Given the description of an element on the screen output the (x, y) to click on. 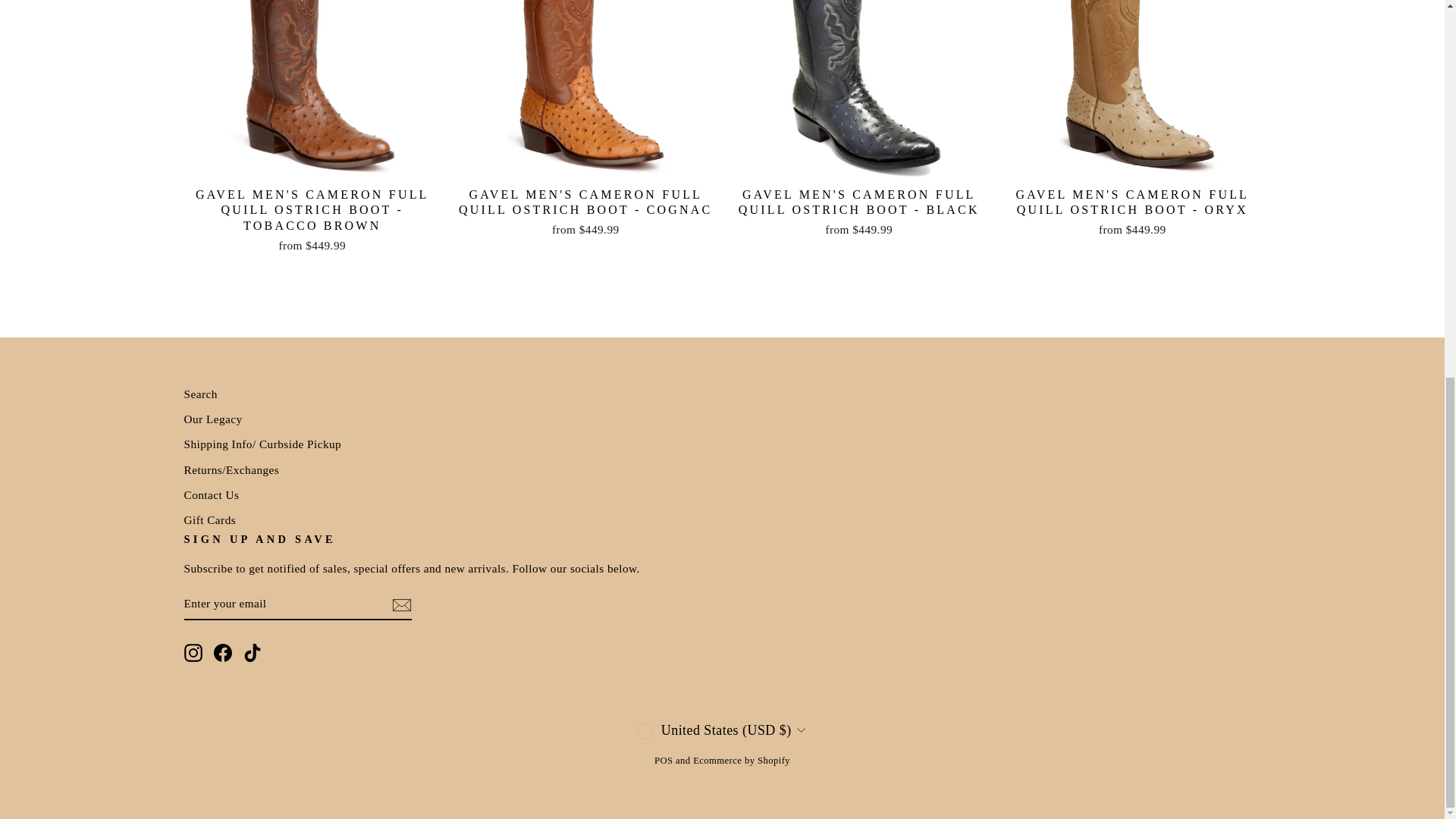
Gavel Western Wear on TikTok (251, 651)
instagram (192, 652)
icon-email (400, 605)
Gavel Western Wear on Instagram (192, 651)
Gavel Western Wear on Facebook (222, 651)
